Given the description of an element on the screen output the (x, y) to click on. 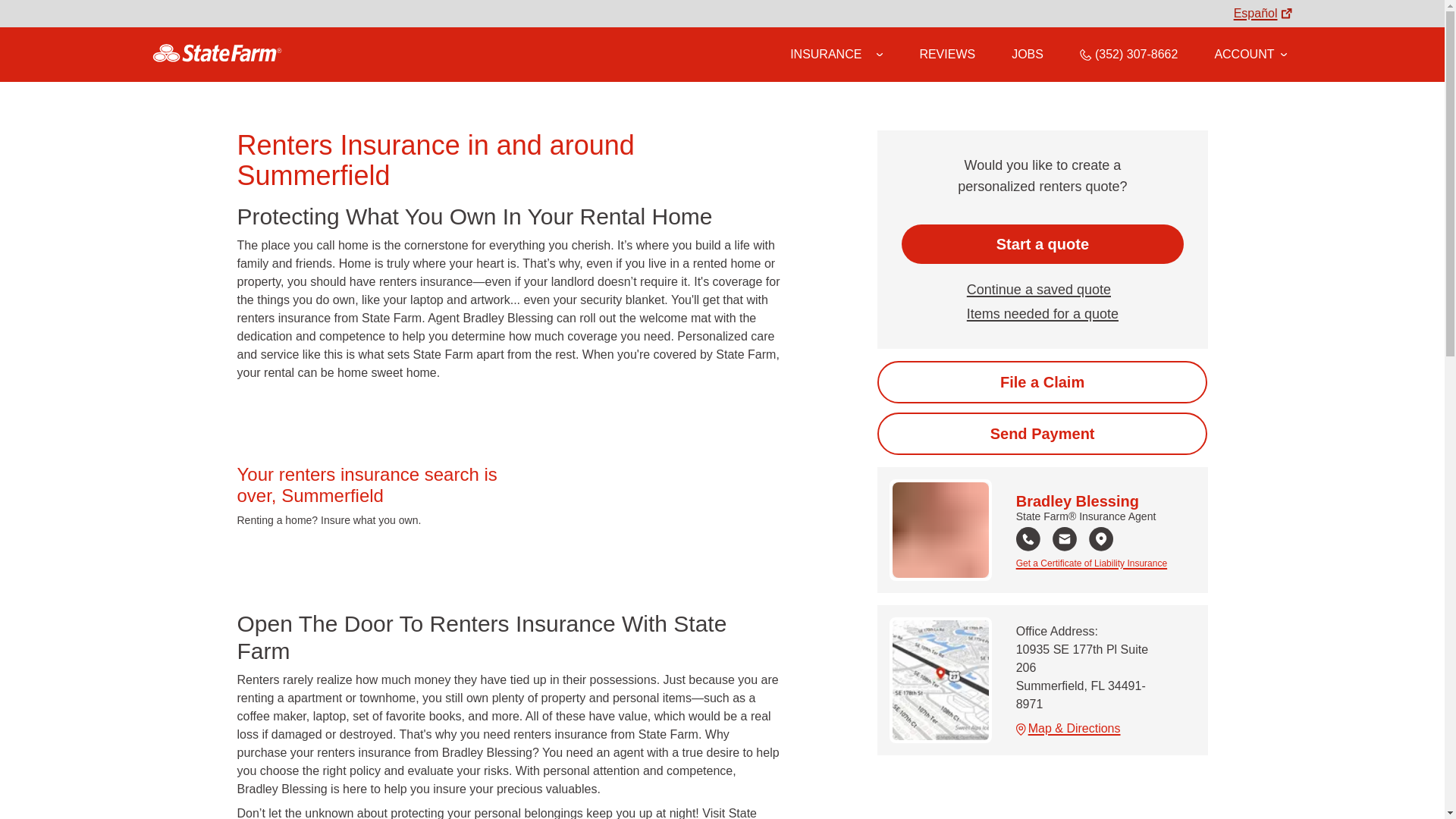
Insurance (836, 54)
Start the claim process online (1042, 382)
INSURANCE (825, 54)
REVIEWS (946, 54)
JOBS (1027, 54)
ACCOUNT (1250, 54)
Account Options (1250, 54)
